Given the description of an element on the screen output the (x, y) to click on. 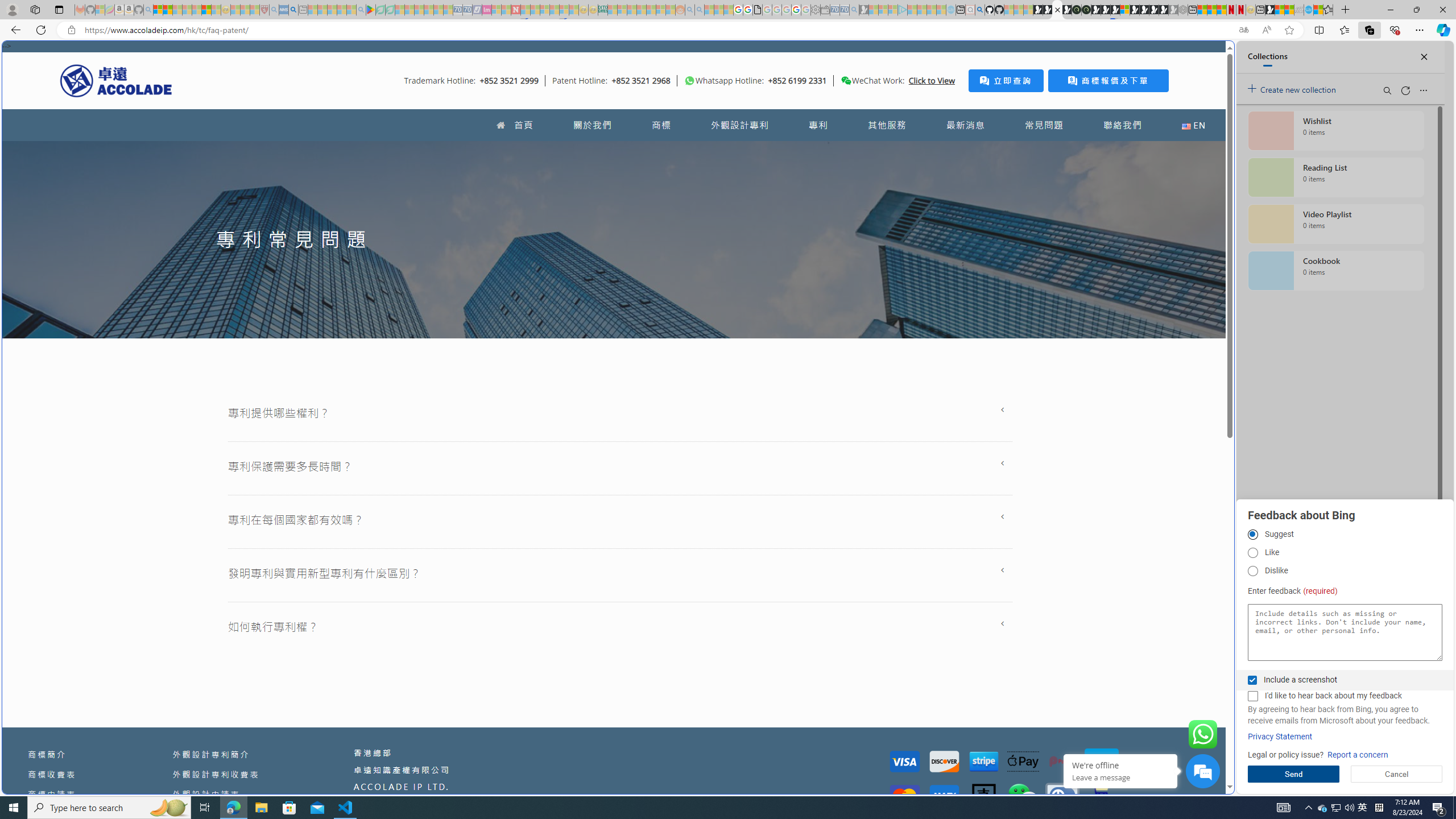
Play Cave FRVR in your browser | Games from Microsoft Start (1105, 9)
